Given the description of an element on the screen output the (x, y) to click on. 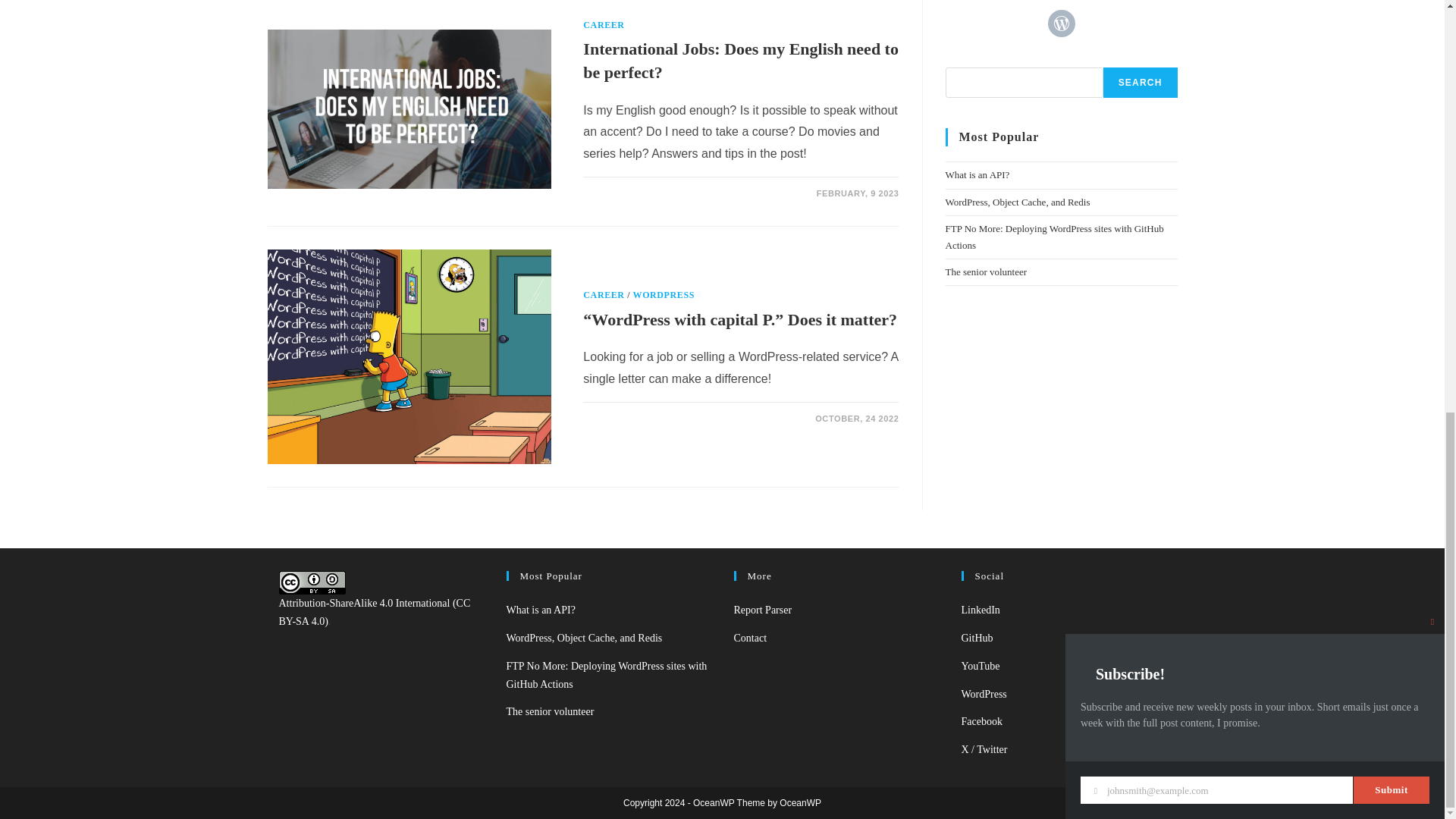
Facebook (981, 721)
YouTube (980, 665)
WORDPRESS (663, 294)
CAREER (603, 24)
International Jobs: Does my English need to be perfect? (740, 60)
WordPress.org (983, 694)
GitHub (976, 637)
CAREER (603, 294)
Twitter (983, 749)
